Given the description of an element on the screen output the (x, y) to click on. 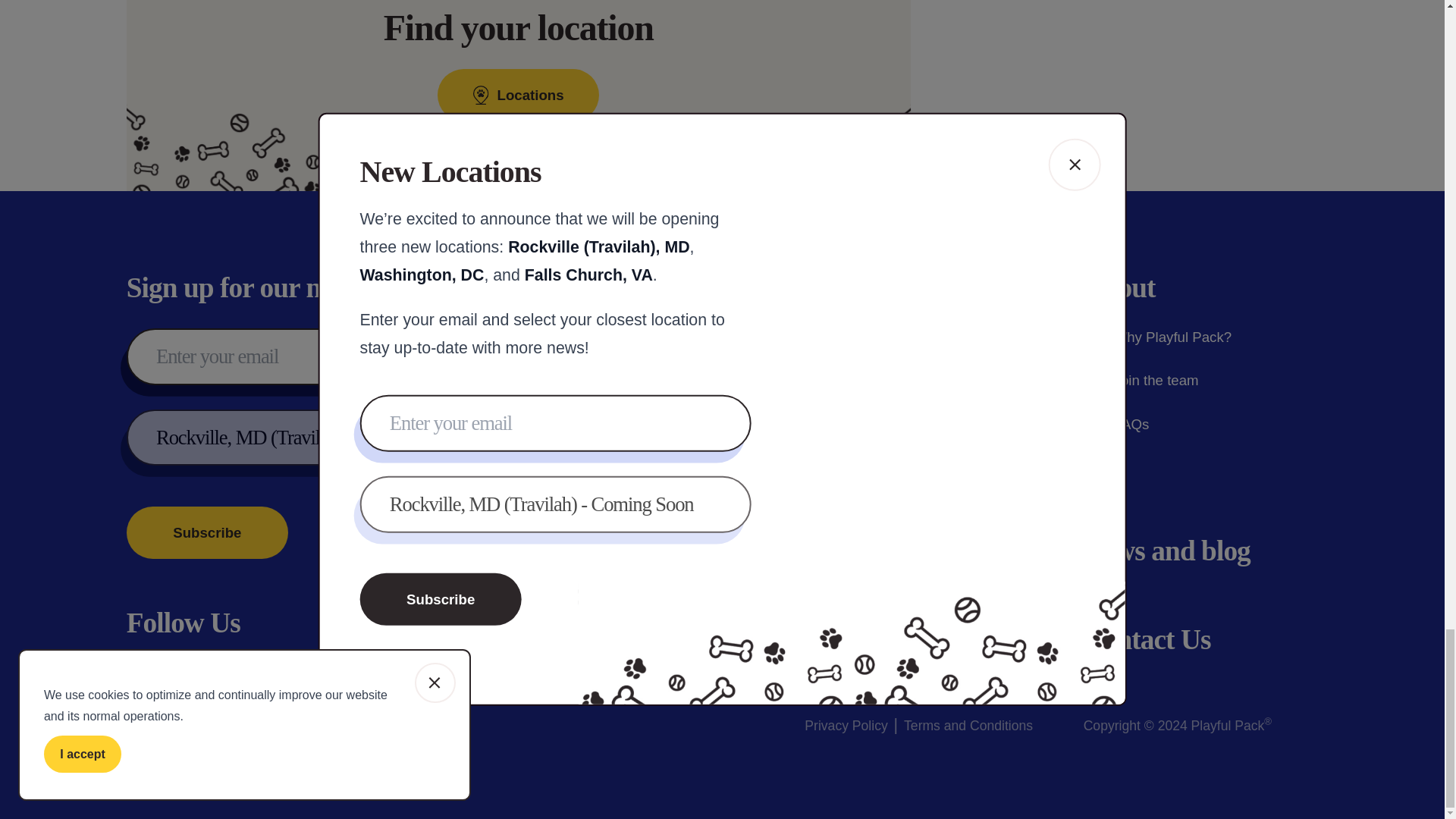
Dog Boarding (863, 380)
Subscribe (207, 531)
Dog Grooming (865, 424)
Dog Daycare (861, 337)
News and blog (1166, 550)
Contact Us (1147, 639)
Dog Wash (852, 467)
Locations (518, 94)
Services (851, 287)
Join the team (1140, 380)
Franchising (873, 550)
About (1119, 287)
Locations (860, 639)
FAQs (1116, 424)
Why Playful Pack? (1157, 337)
